Given the description of an element on the screen output the (x, y) to click on. 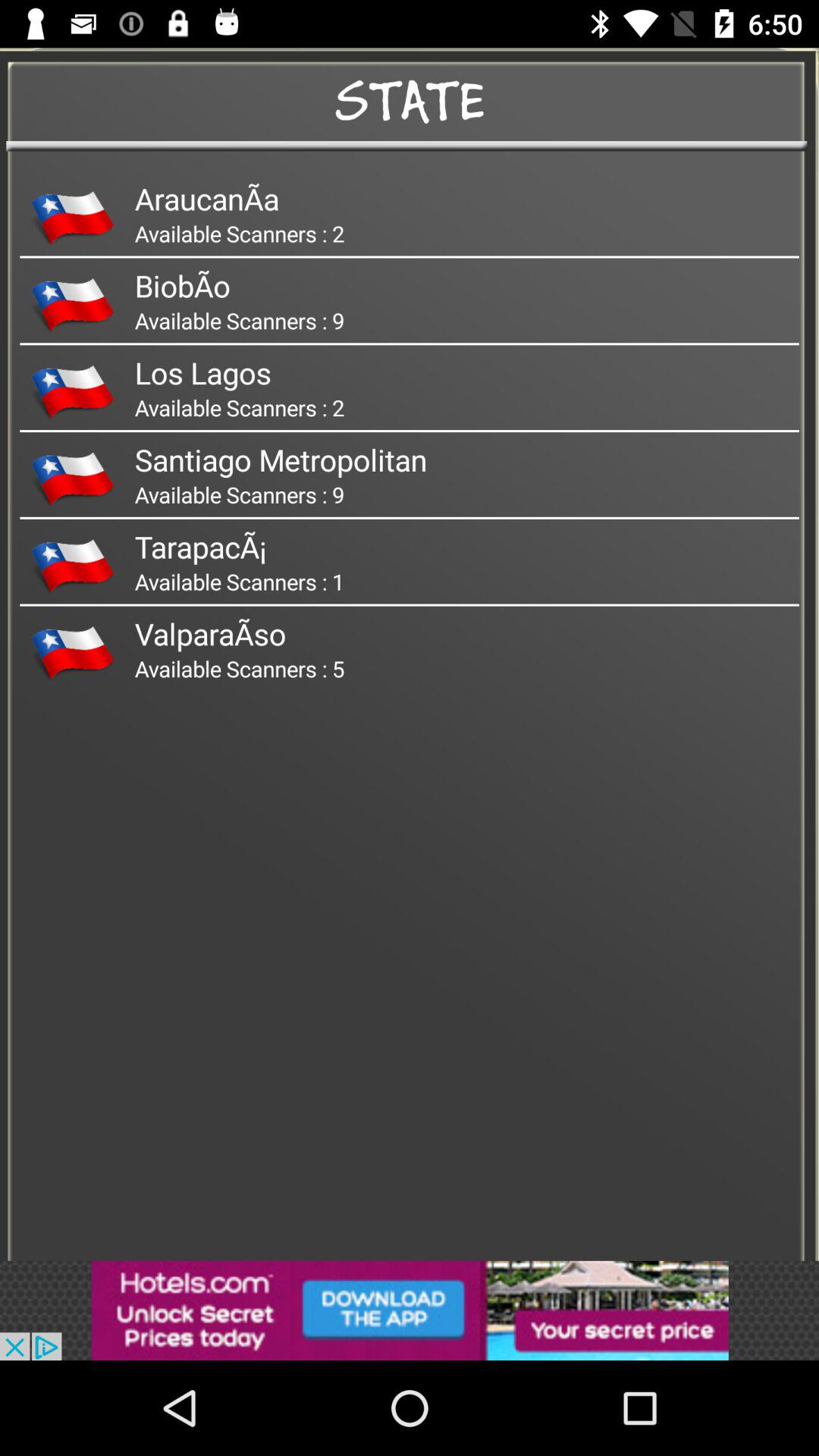
add the option (409, 1310)
